Given the description of an element on the screen output the (x, y) to click on. 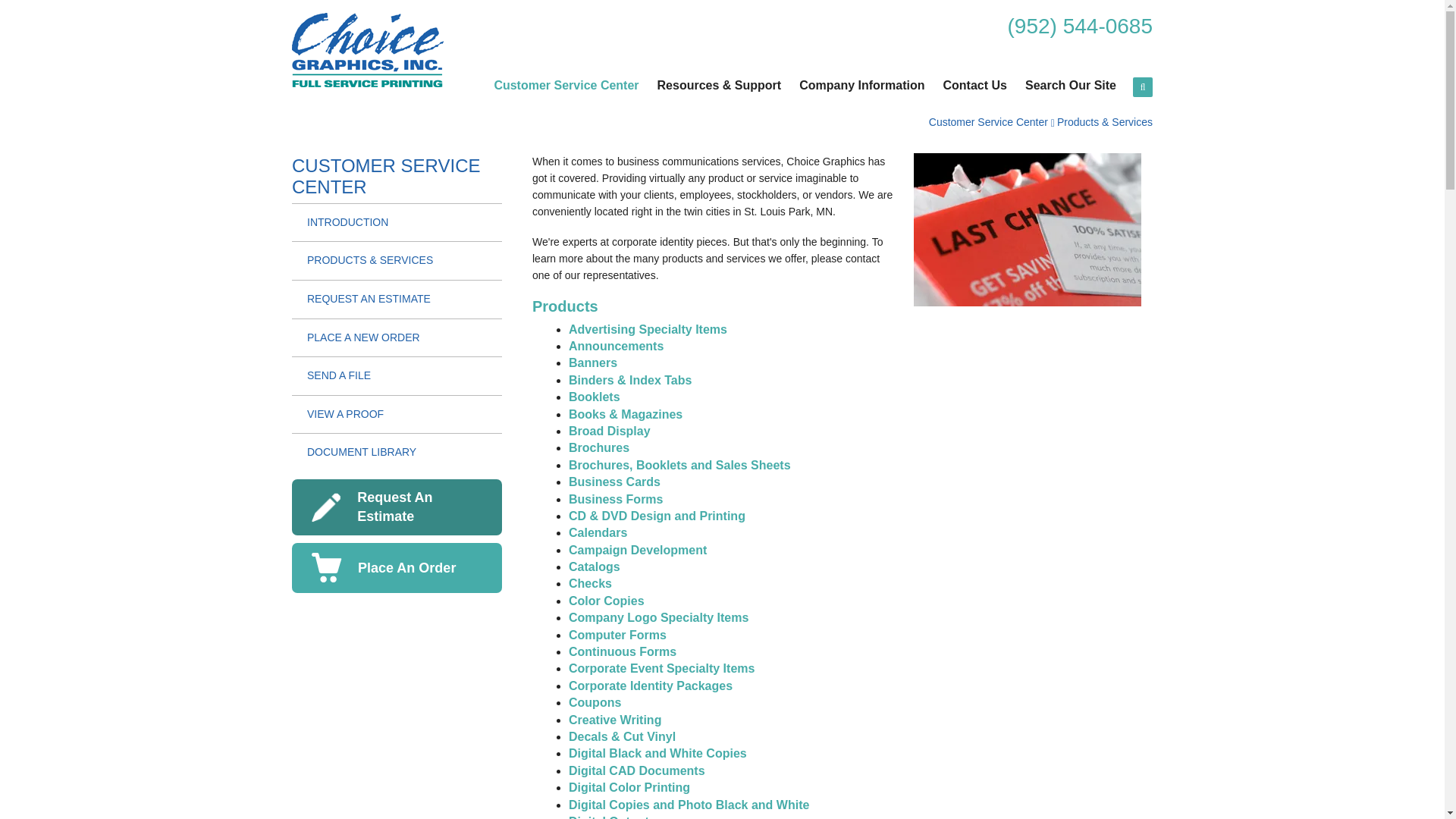
logo (368, 49)
Customer Service Center (565, 87)
